Given the description of an element on the screen output the (x, y) to click on. 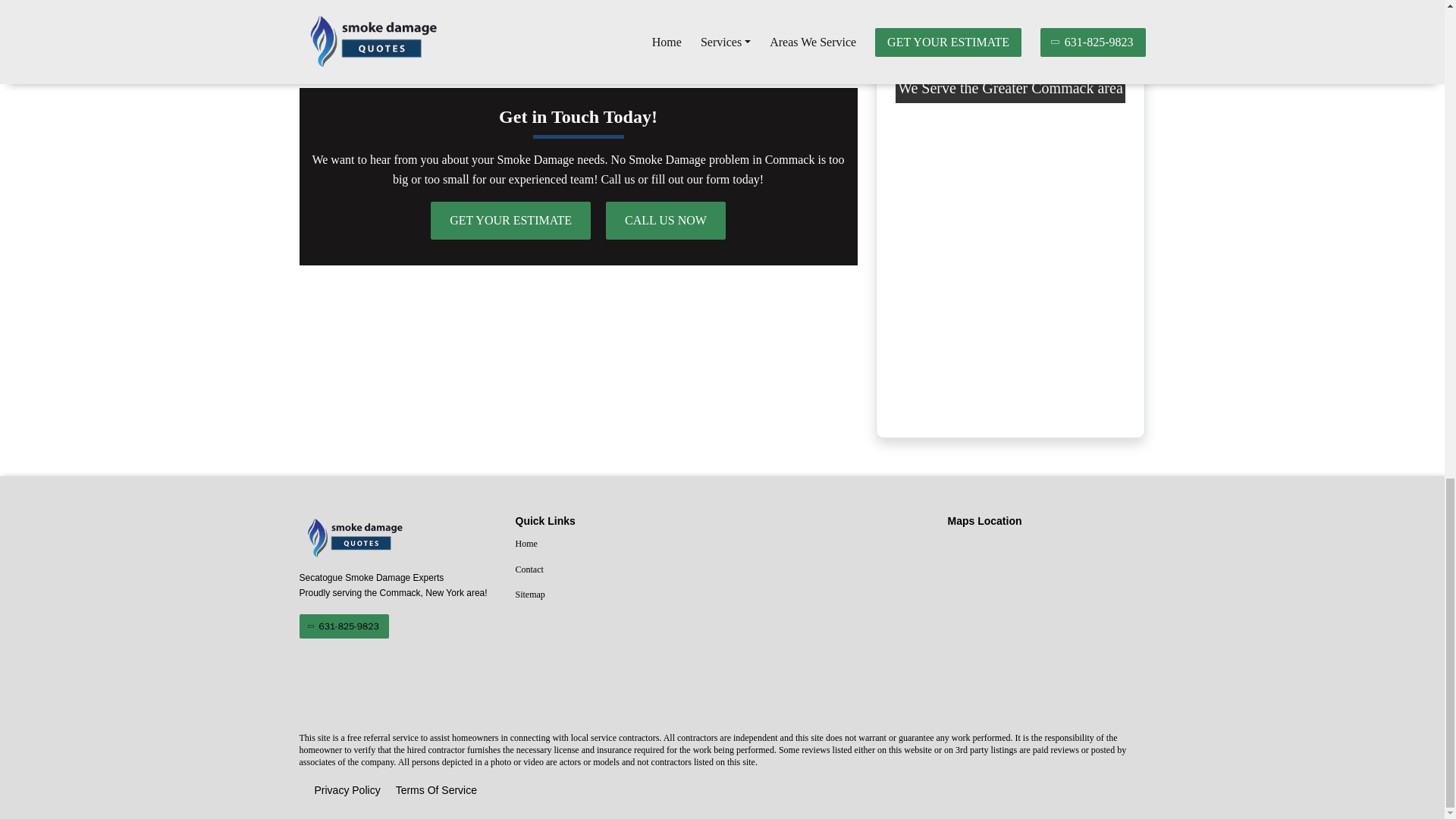
631-825-9823 (343, 626)
Privacy Policy (347, 790)
CALL US NOW (1016, 5)
CALL US NOW (665, 220)
GET YOUR ESTIMATE (510, 220)
Home (614, 544)
Contact (614, 569)
Sitemap (614, 595)
Terms Of Service (436, 790)
